Given the description of an element on the screen output the (x, y) to click on. 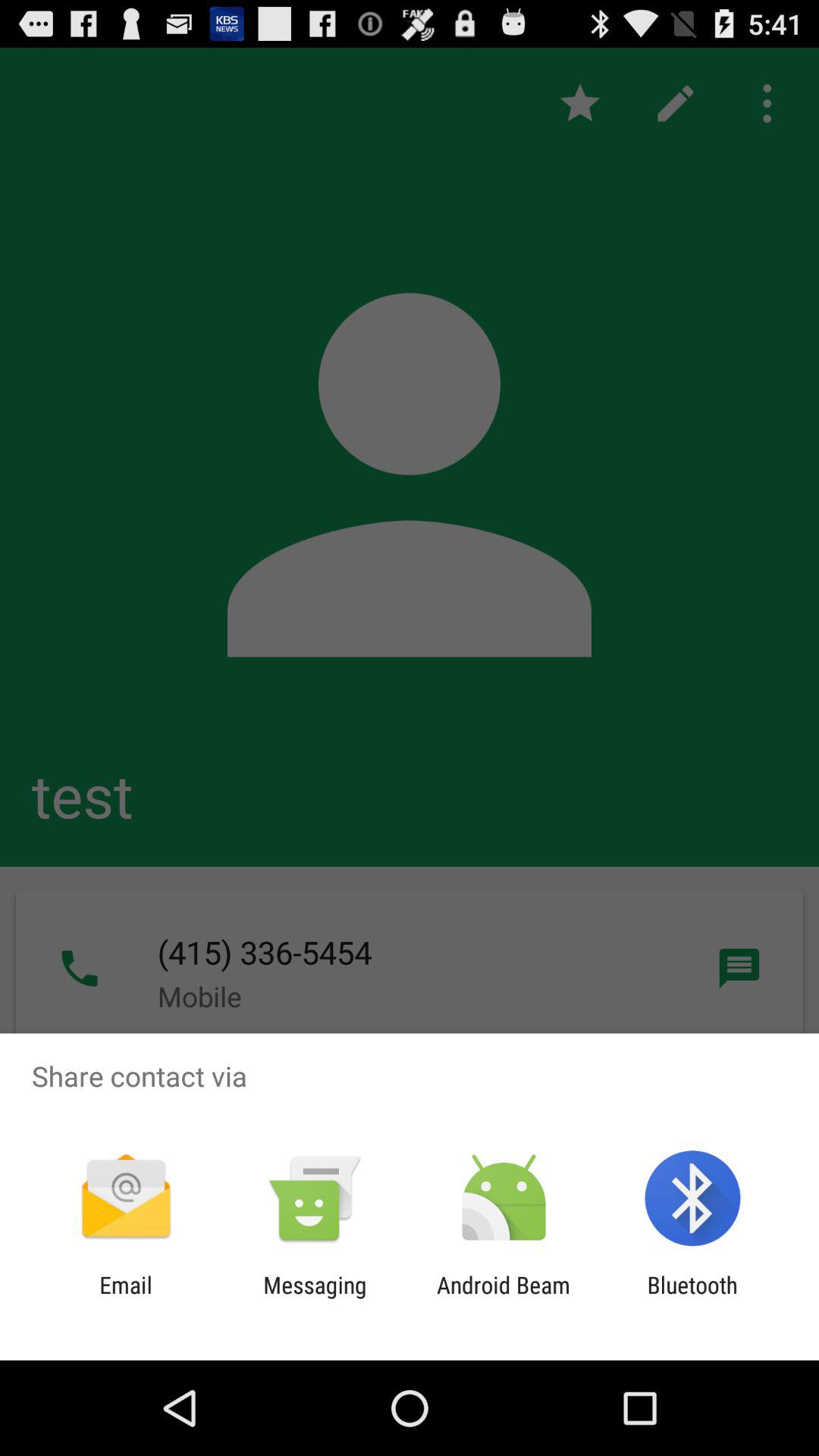
turn off app to the left of the messaging icon (125, 1298)
